Given the description of an element on the screen output the (x, y) to click on. 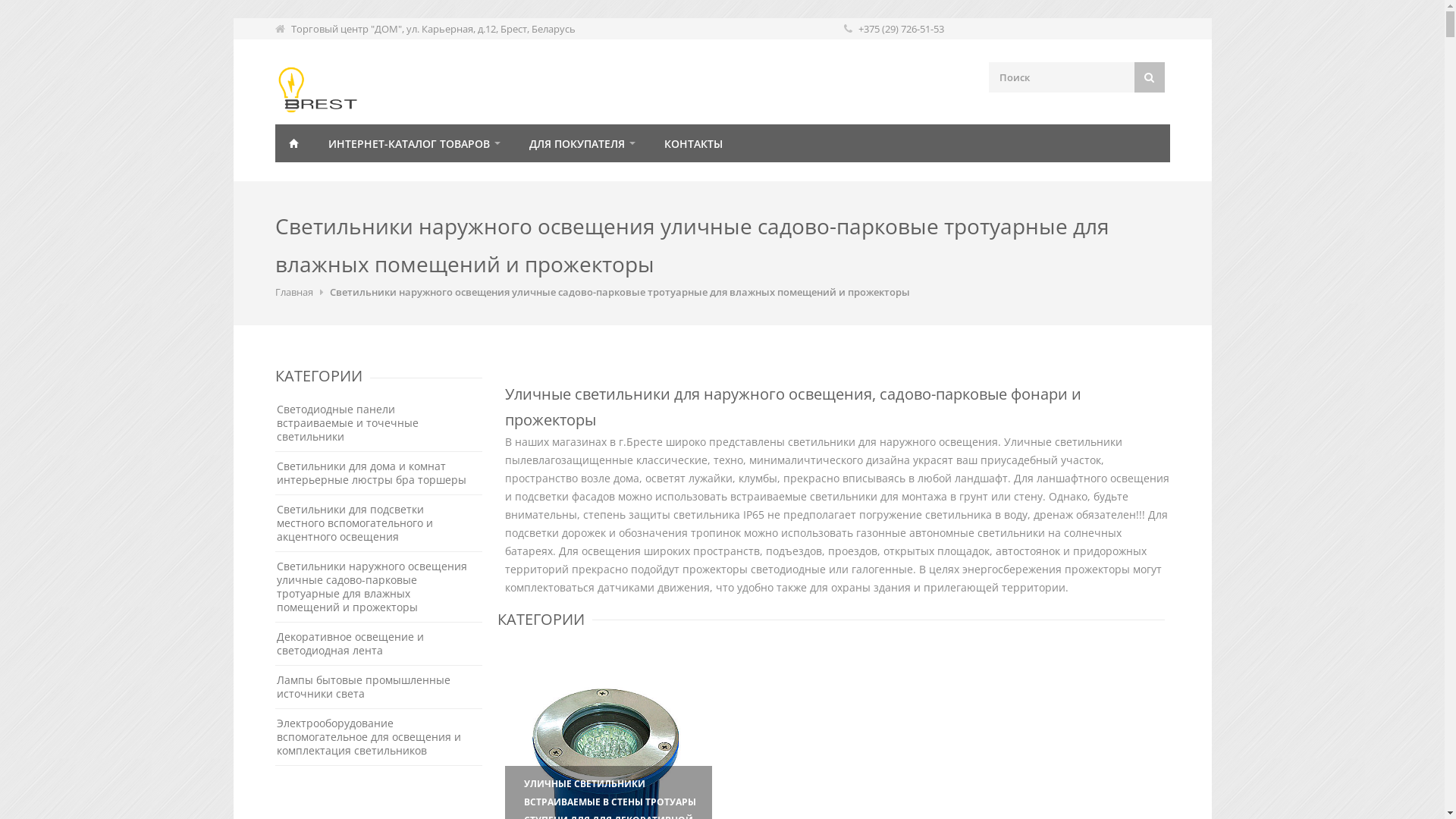
+375 (29) 726-51-53 Element type: text (901, 28)
